Given the description of an element on the screen output the (x, y) to click on. 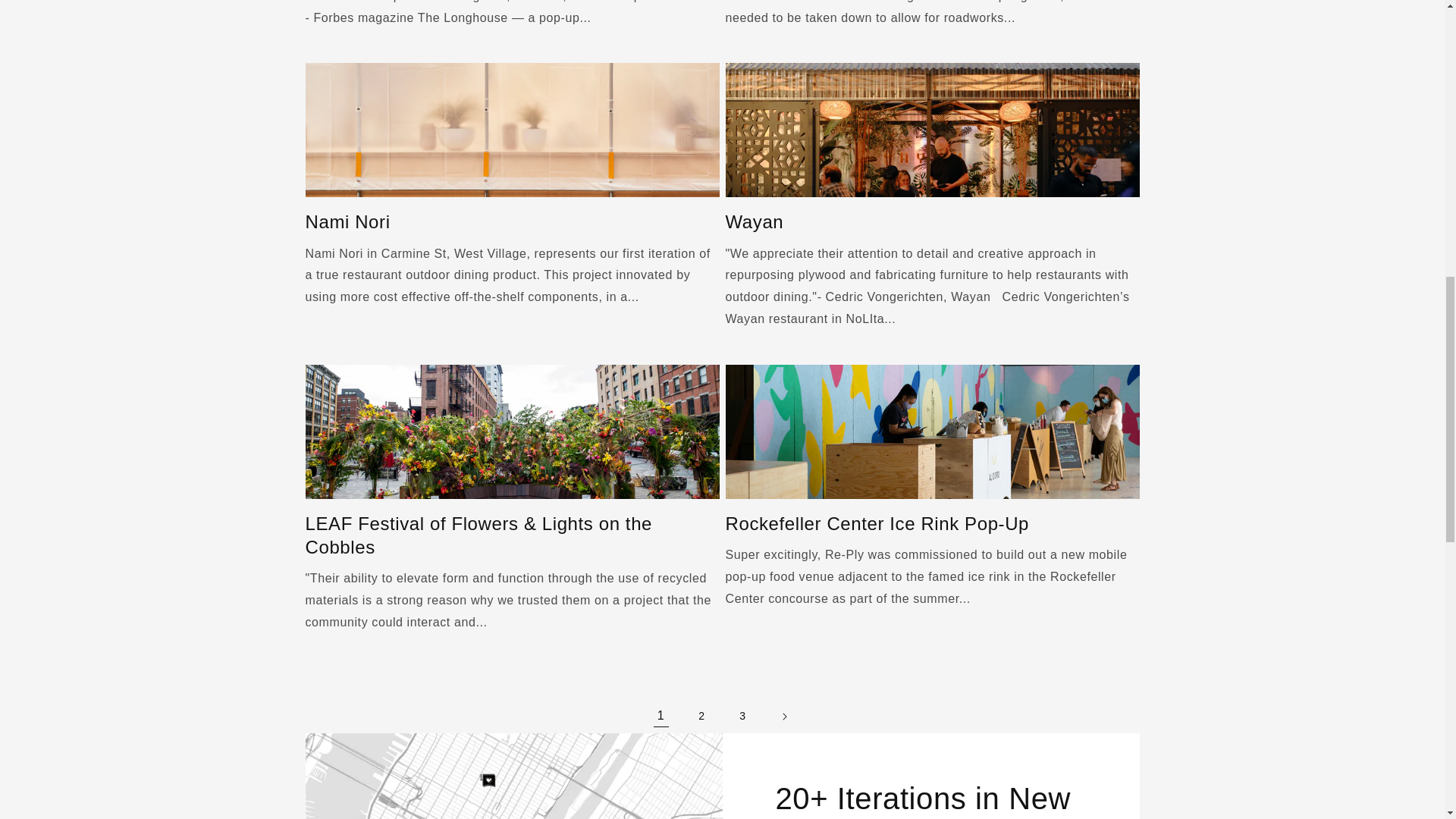
2 (702, 716)
Nami Nori (511, 221)
Rockefeller Center Ice Rink Pop-Up (931, 523)
Wayan (931, 221)
3 (743, 716)
